Given the description of an element on the screen output the (x, y) to click on. 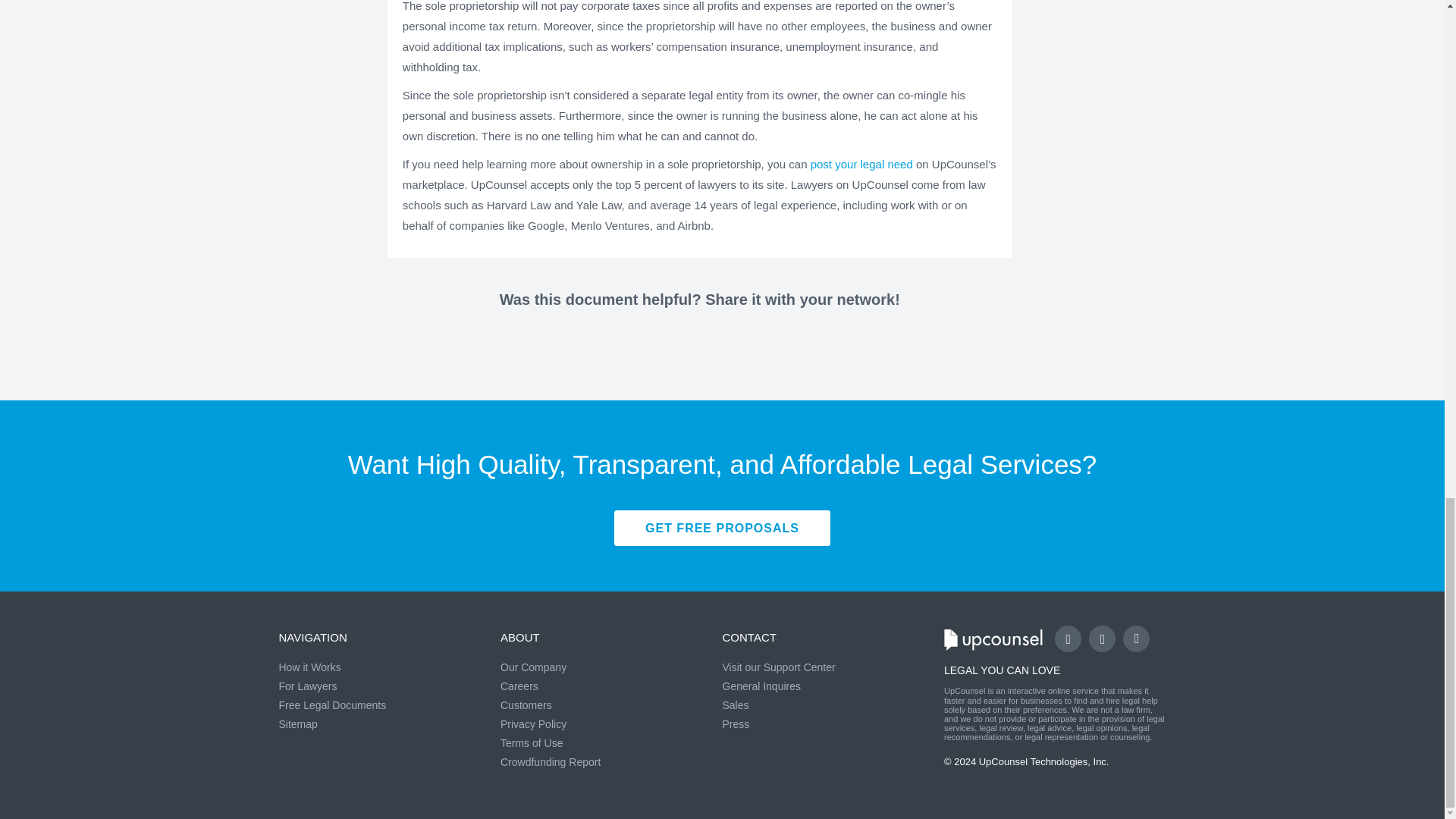
Like us on Facebook (1067, 638)
post your legal need (861, 164)
Connect with us on LinkedIn (1136, 638)
Follow us on Twitter (1102, 638)
